Given the description of an element on the screen output the (x, y) to click on. 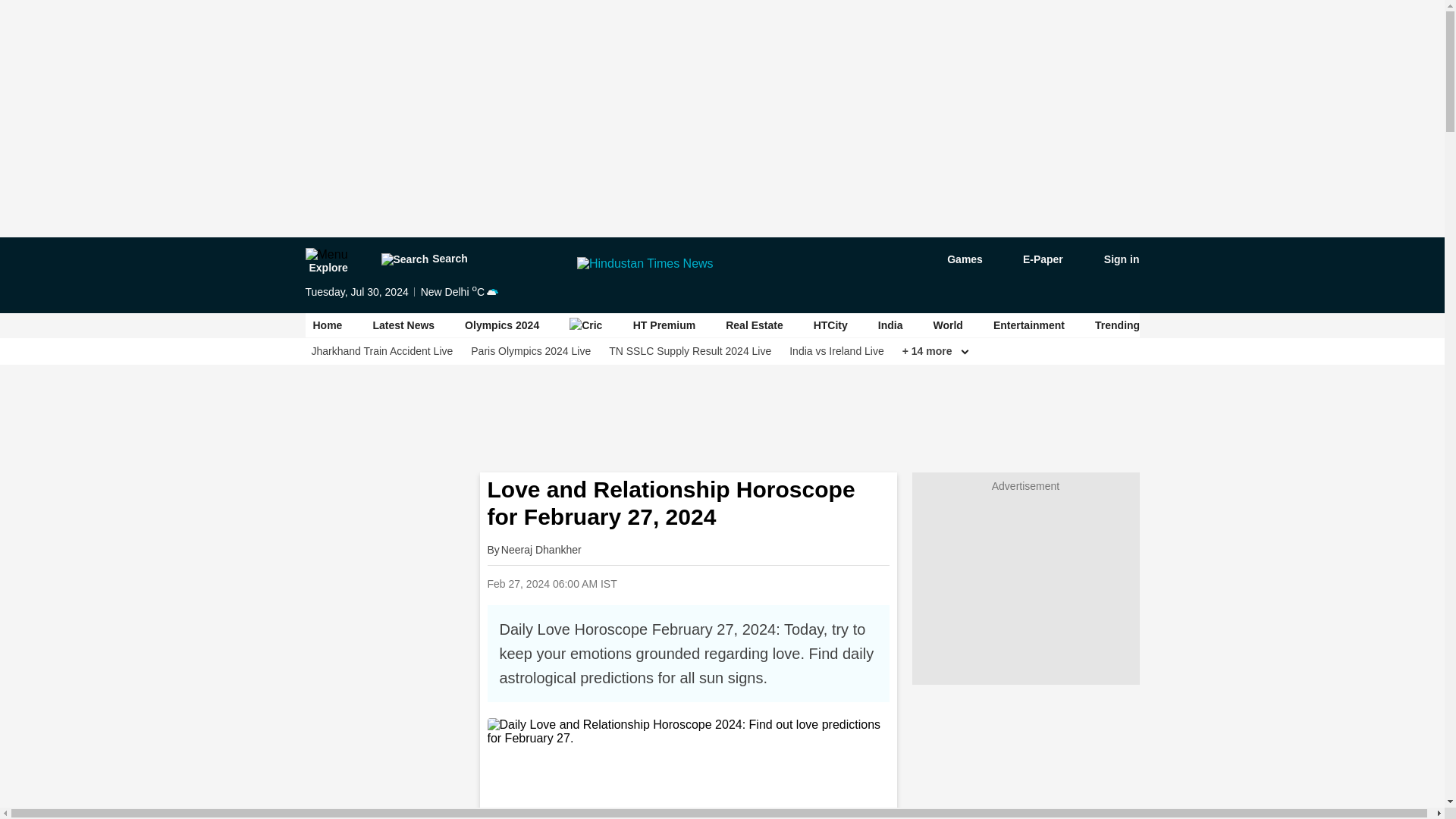
Jharkhand Train Accident Live (381, 350)
Cities (1419, 325)
Lifestyle (1270, 325)
Home (327, 325)
HTCity (830, 325)
Education (1348, 325)
epaper (1034, 258)
TN SSLC Supply Result 2024 Live (689, 350)
Share on Linkdin (788, 583)
game (954, 258)
Share on Twitter (749, 583)
Share on Facebook (710, 583)
Search (423, 258)
Crickit (585, 324)
Entertainment (1028, 325)
